Given the description of an element on the screen output the (x, y) to click on. 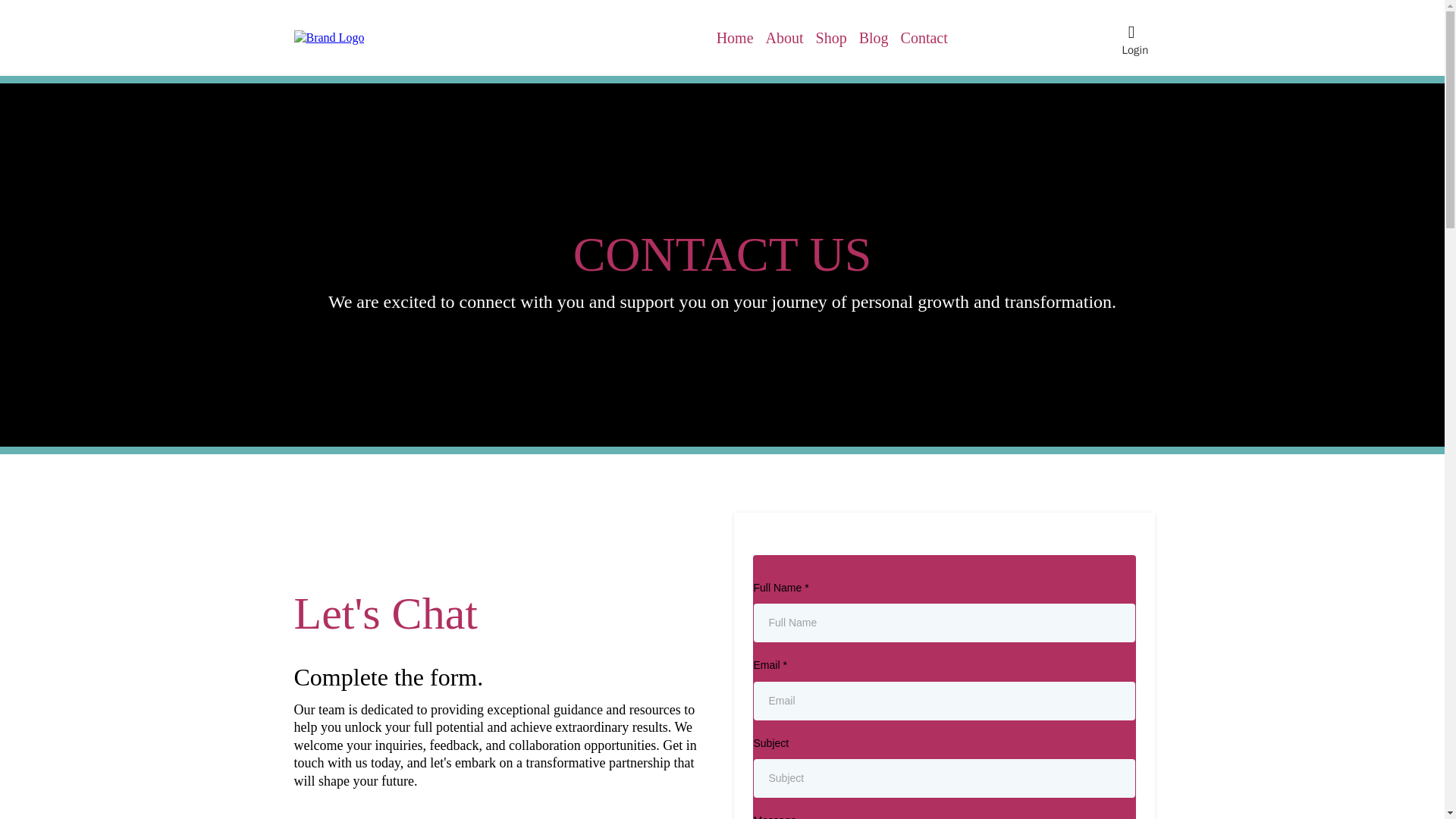
Shop (831, 37)
Contact (924, 37)
Home (735, 37)
About (784, 37)
Blog (874, 37)
